Given the description of an element on the screen output the (x, y) to click on. 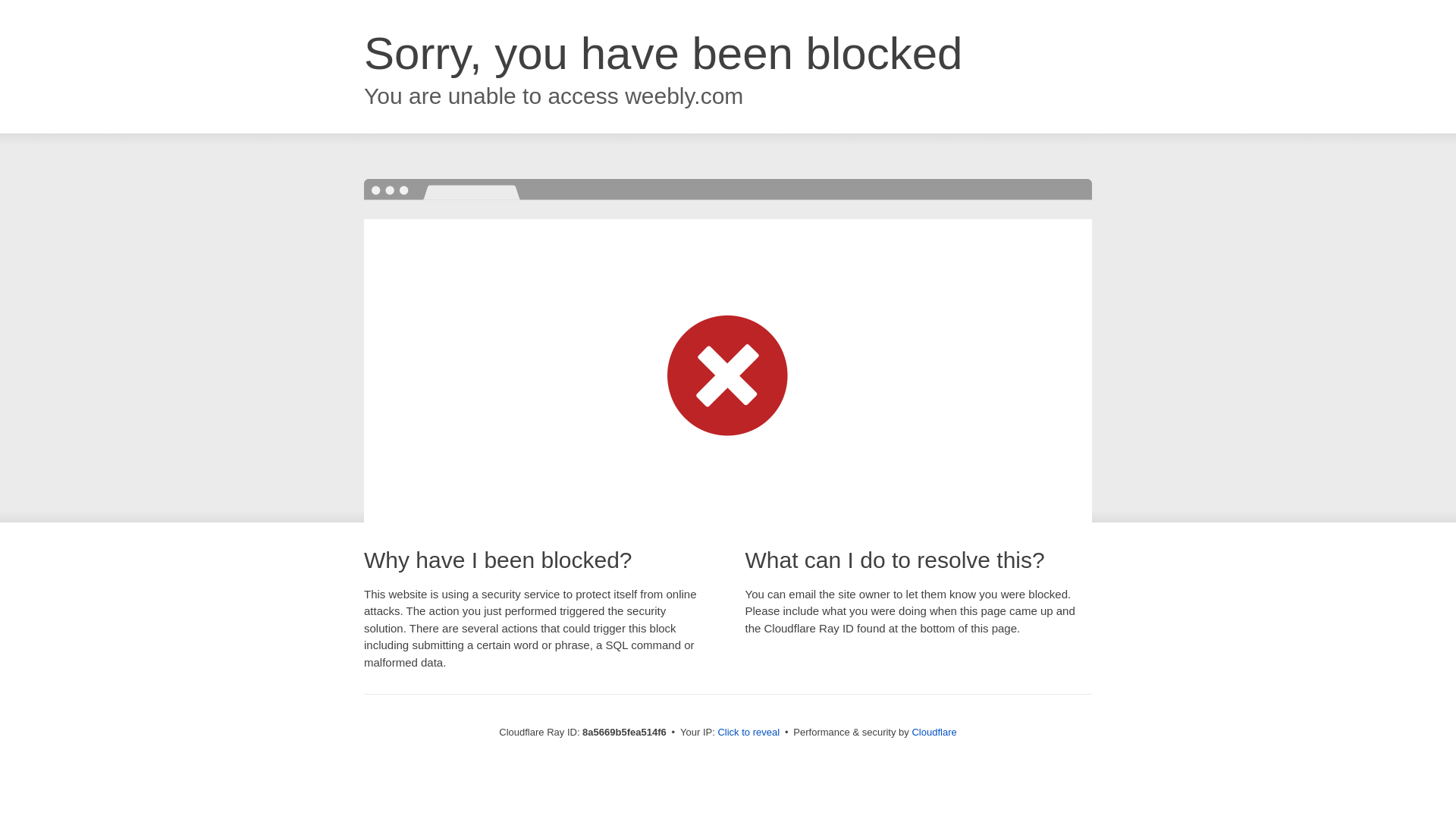
Cloudflare (933, 731)
Click to reveal (747, 732)
